Given the description of an element on the screen output the (x, y) to click on. 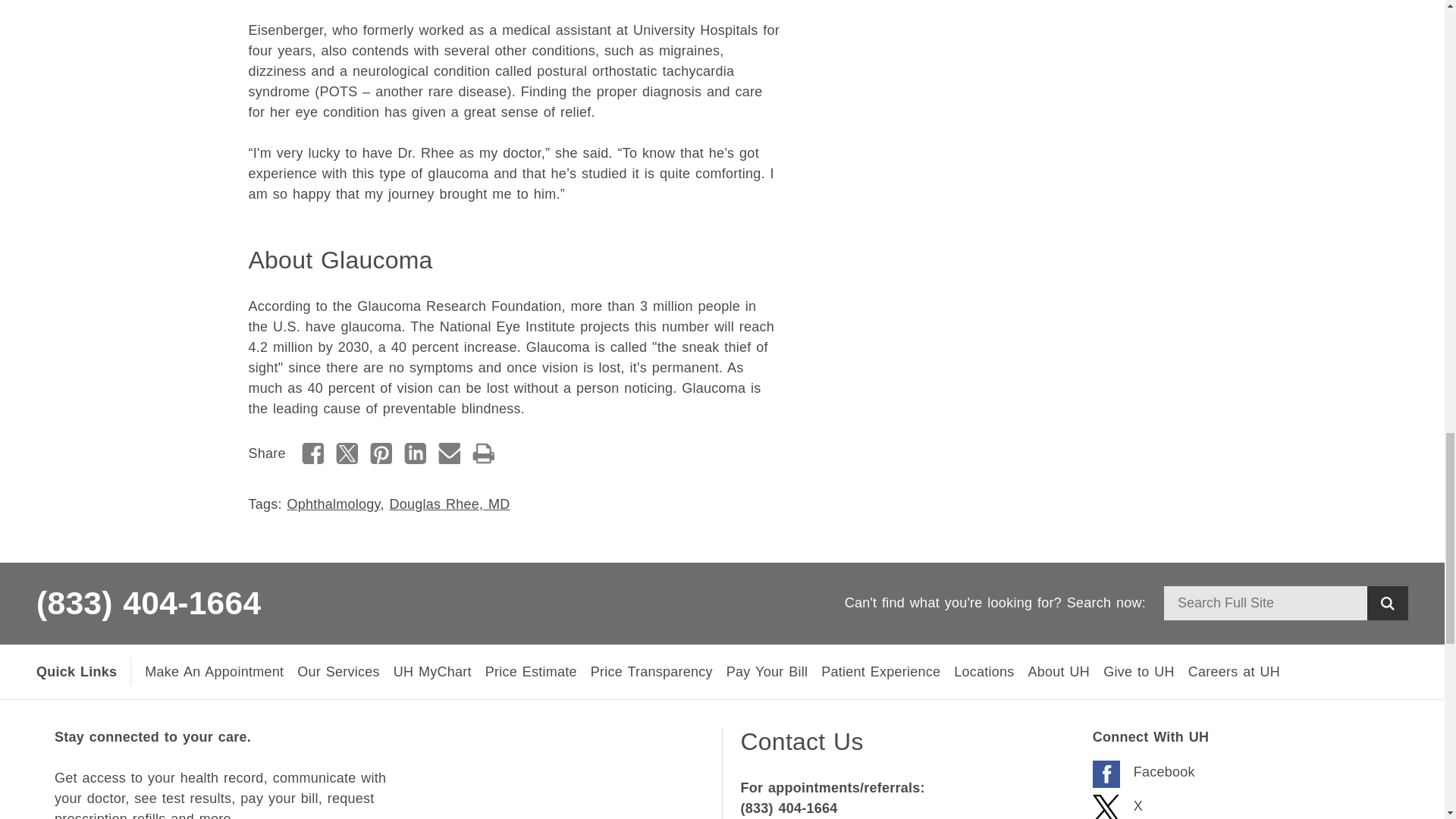
Search (1387, 602)
